Given the description of an element on the screen output the (x, y) to click on. 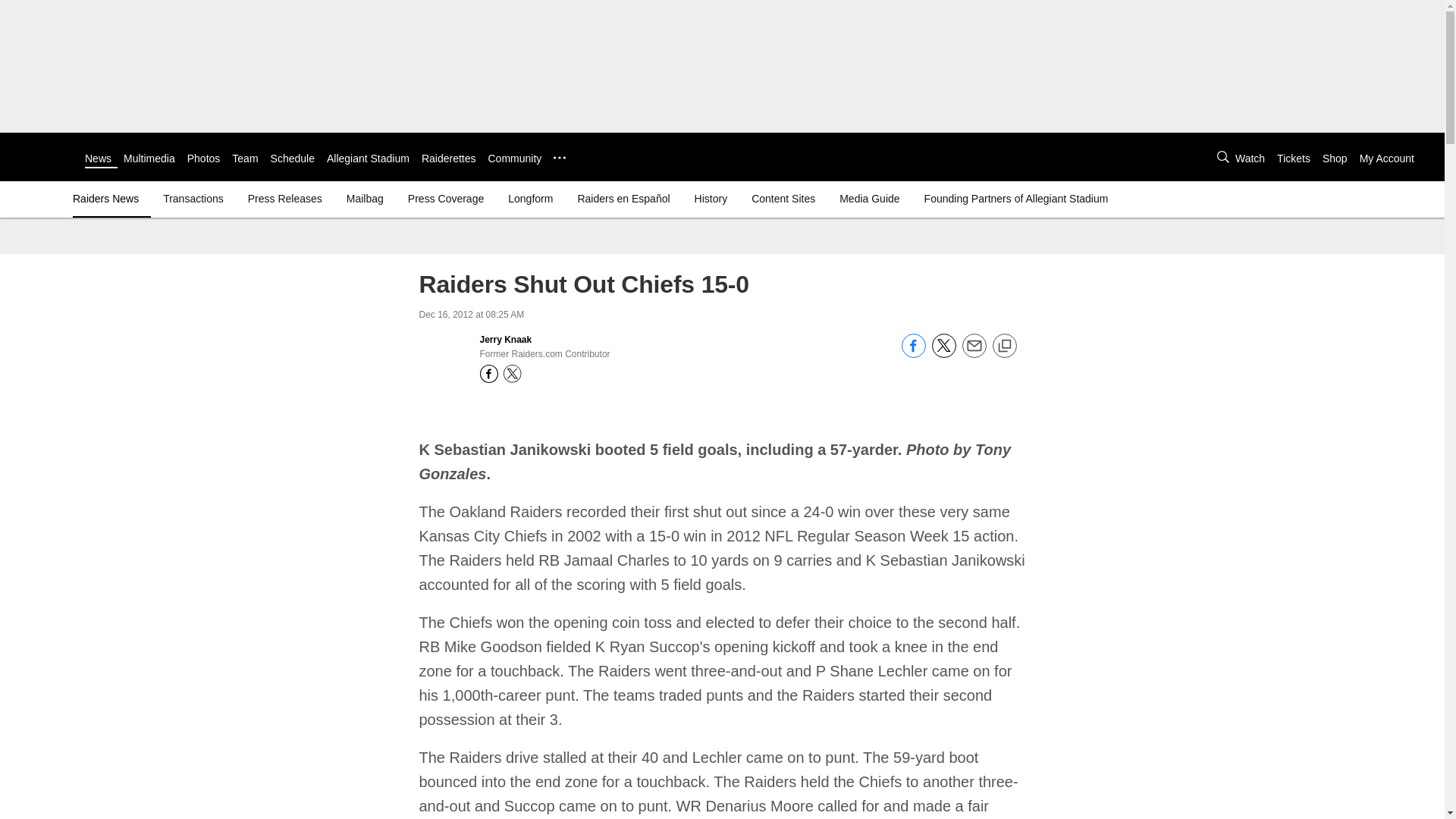
... (559, 157)
Link to club's homepage (42, 156)
Team (244, 158)
Media Guide (868, 198)
Longform (530, 198)
Schedule (292, 158)
Multimedia (148, 158)
Tickets (1293, 158)
Raiderettes (449, 158)
Allegiant Stadium (367, 158)
